Given the description of an element on the screen output the (x, y) to click on. 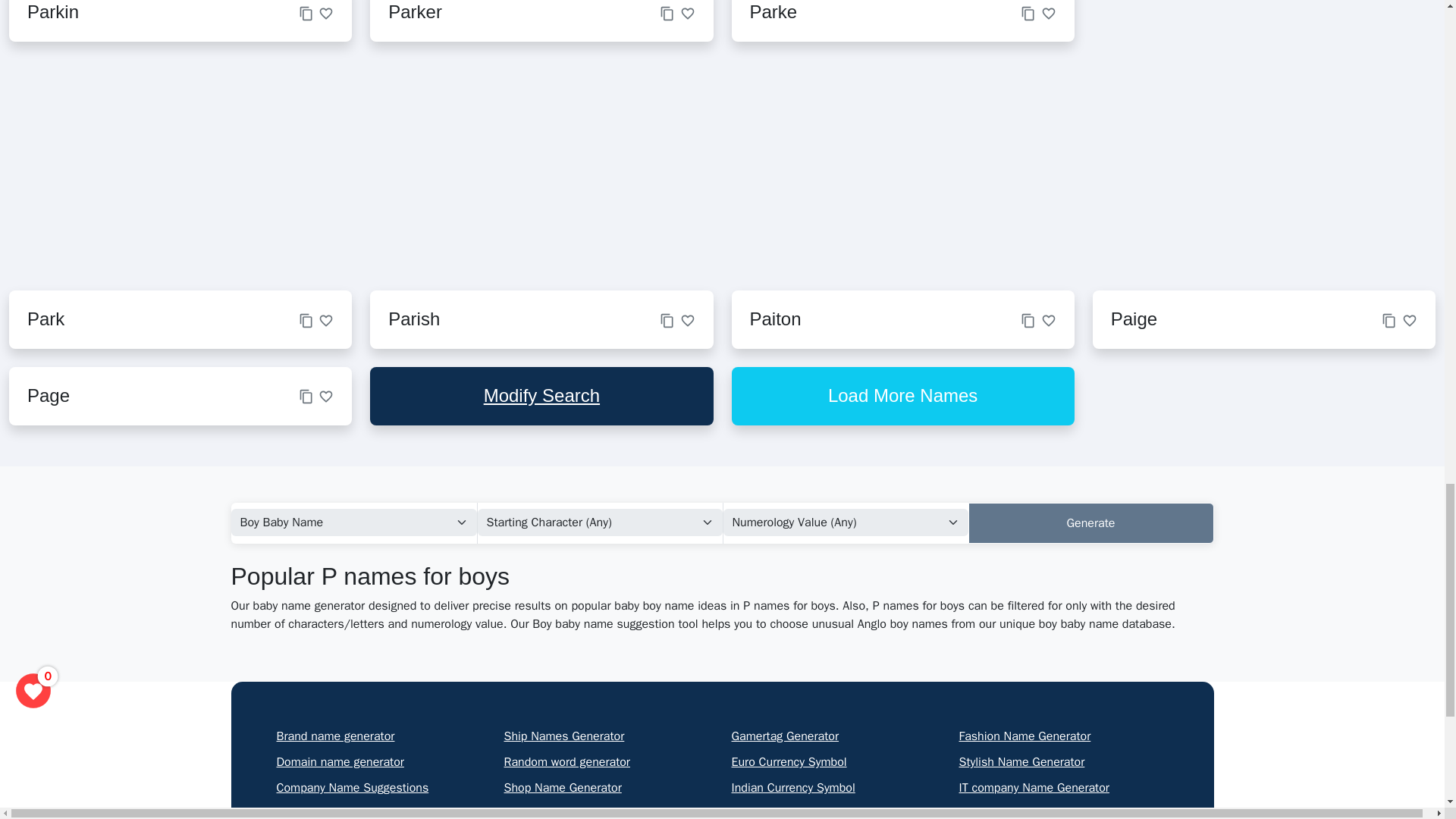
Advertisement (1179, 165)
Generate (1090, 522)
Advertisement (697, 165)
Advertisement (215, 165)
